Given the description of an element on the screen output the (x, y) to click on. 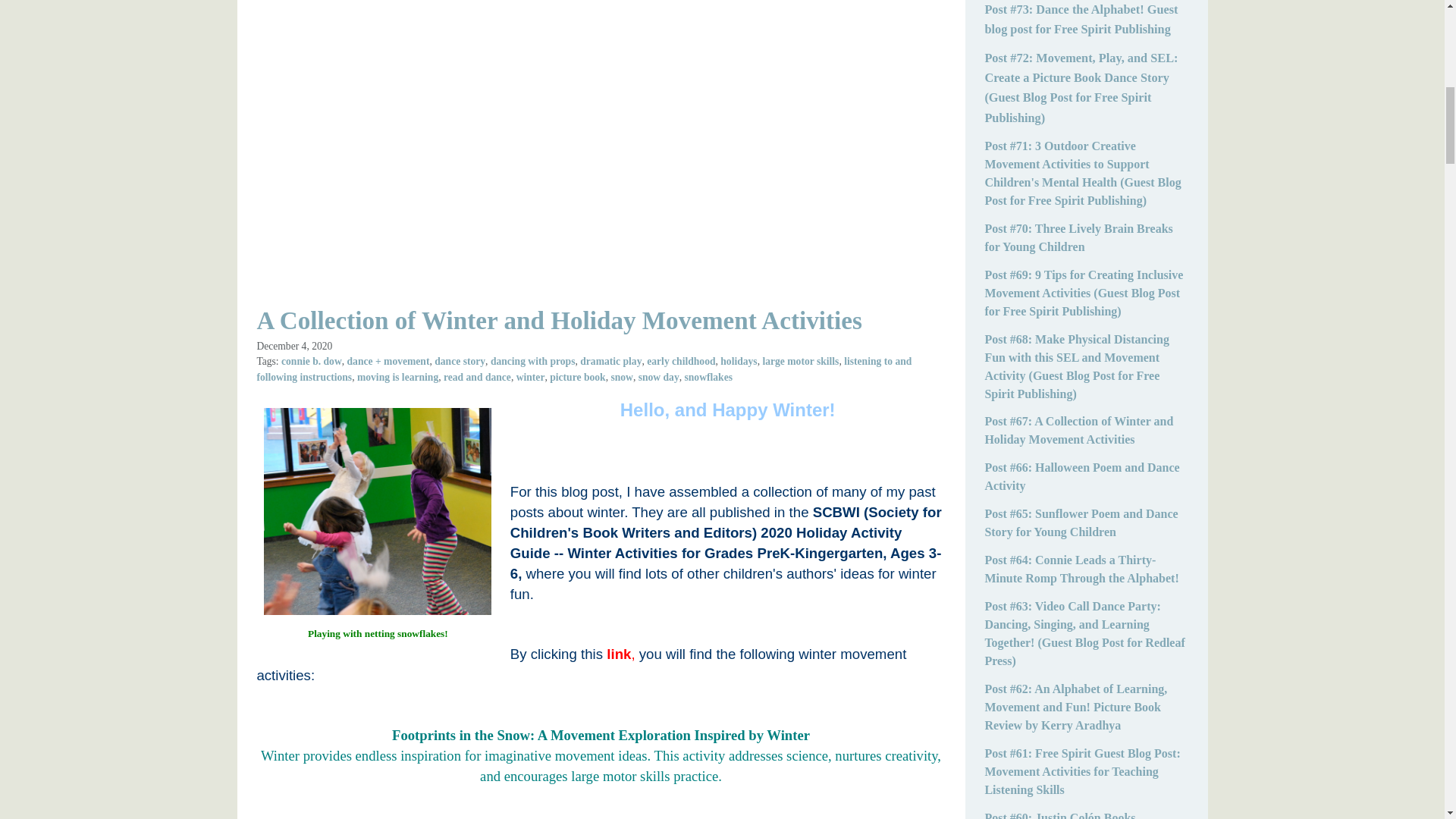
winter (530, 377)
listening to and following instructions (583, 368)
dramatic play (610, 360)
dancing with props (532, 360)
holidays (738, 360)
dance story (458, 360)
large motor skills (799, 360)
connie b. dow (311, 360)
moving is learning (397, 377)
snow (620, 377)
